Given the description of an element on the screen output the (x, y) to click on. 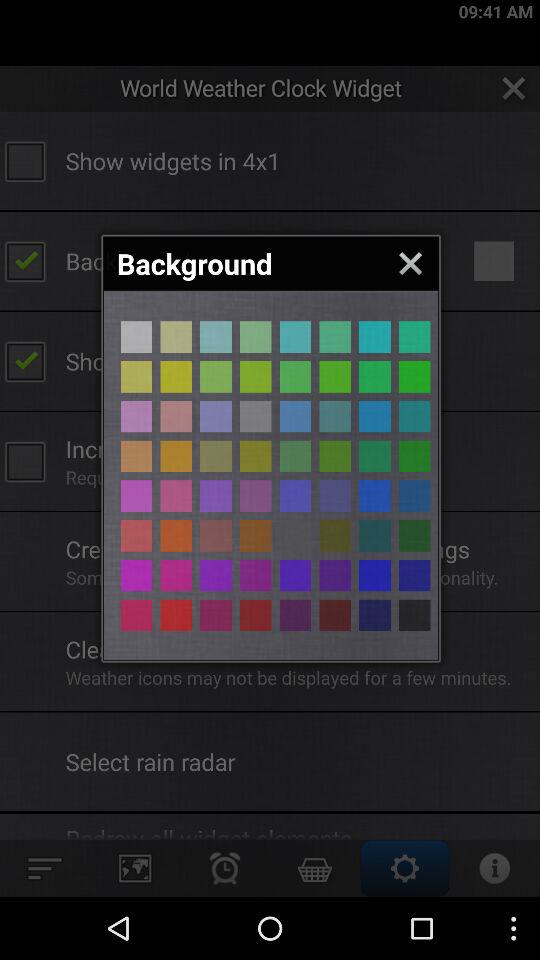
the button is used to color option (255, 376)
